Given the description of an element on the screen output the (x, y) to click on. 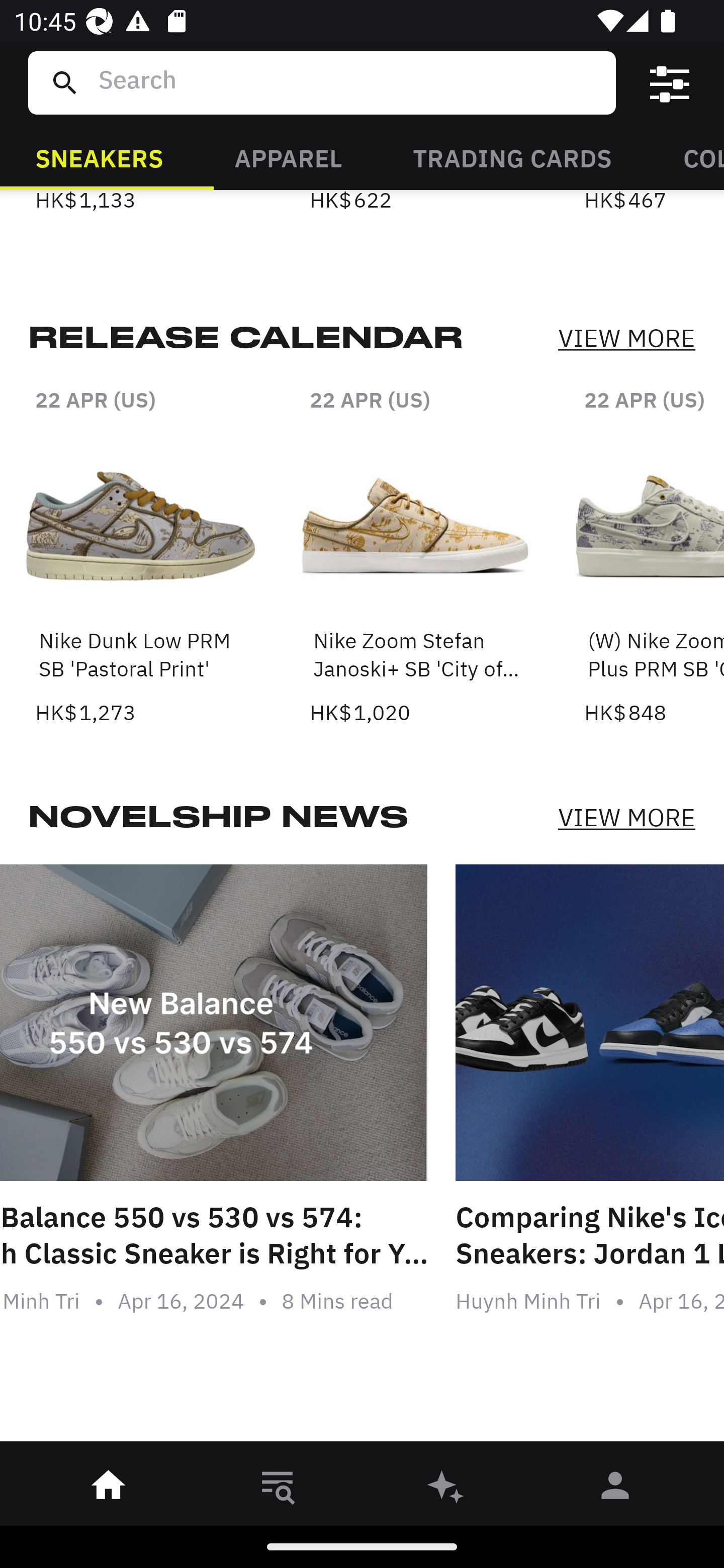
Search (349, 82)
 (669, 82)
SNEAKERS (99, 156)
APPAREL (287, 156)
TRADING CARDS (512, 156)
VIEW MORE (626, 338)
VIEW MORE (626, 816)
󰋜 (108, 1488)
󱎸 (277, 1488)
󰫢 (446, 1488)
󰀄 (615, 1488)
